Given the description of an element on the screen output the (x, y) to click on. 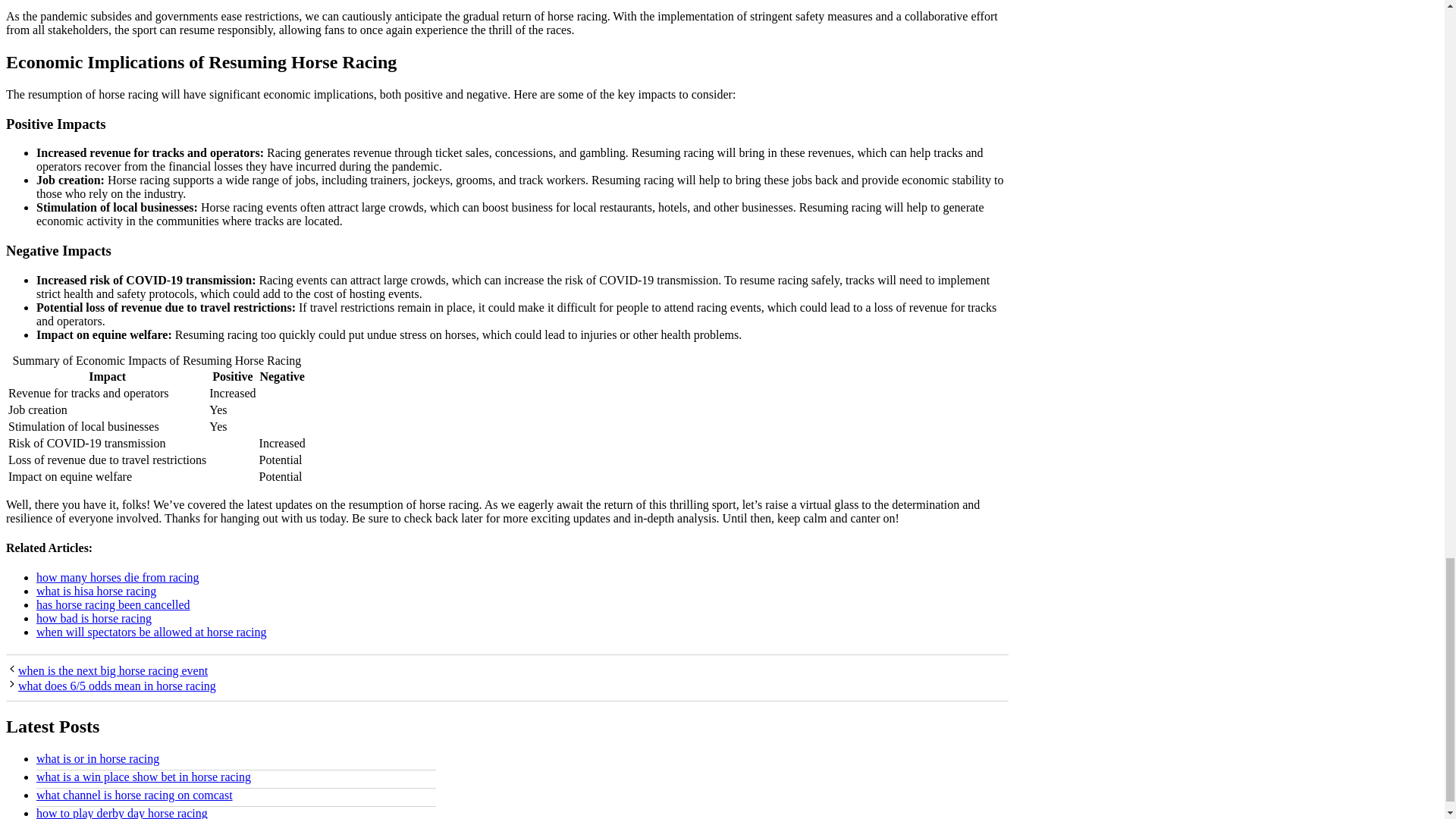
has horse racing been cancelled (113, 604)
when is the next big horse racing event (112, 670)
what is or in horse racing (97, 758)
when will spectators be allowed at horse racing (151, 631)
how many horses die from racing (117, 576)
what is a win place show bet in horse racing (143, 776)
what channel is horse racing on comcast (134, 794)
how bad is horse racing (93, 617)
what is hisa horse racing (95, 590)
